Given the description of an element on the screen output the (x, y) to click on. 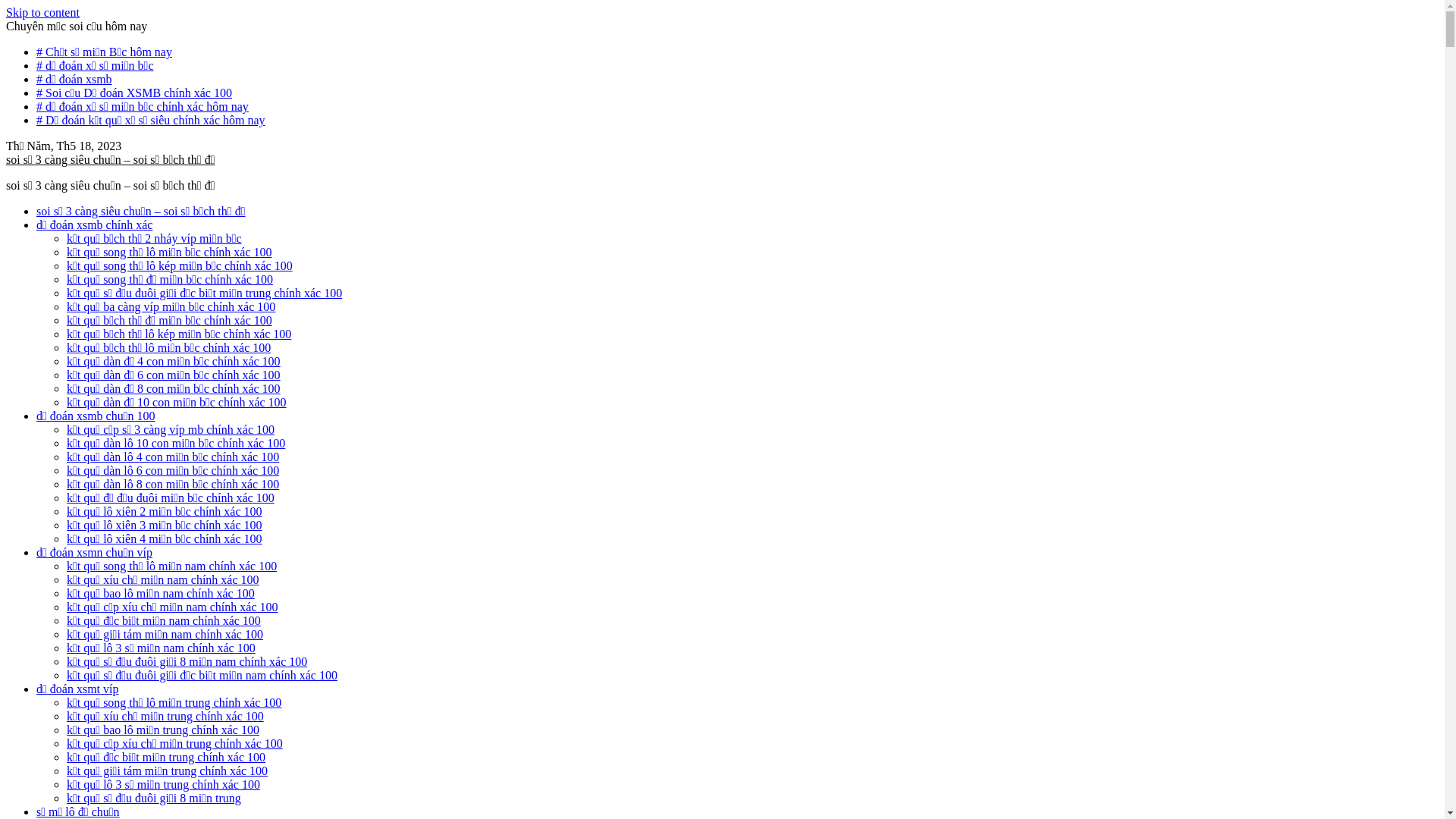
Skip to content Element type: text (42, 12)
